Given the description of an element on the screen output the (x, y) to click on. 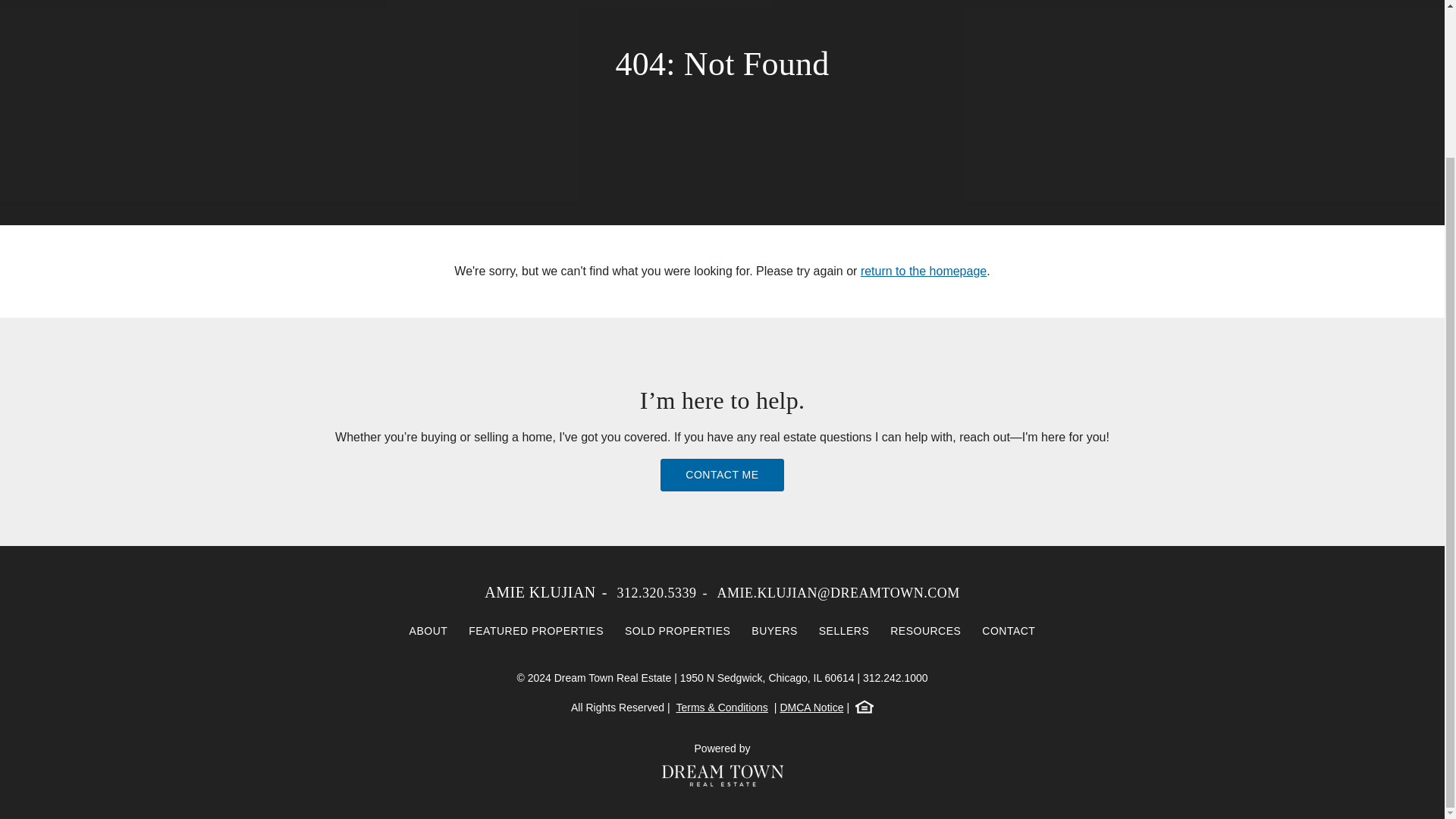
return to the homepage (923, 270)
SOLD PROPERTIES (677, 630)
AMIE KLUJIAN (539, 591)
Dream Town Real Estate (722, 774)
SELLERS (844, 630)
312.320.5339 (655, 592)
CONTACT (1007, 630)
CONTACT ME (722, 474)
FEATURED PROPERTIES (536, 630)
RESOURCES (924, 630)
